Given the description of an element on the screen output the (x, y) to click on. 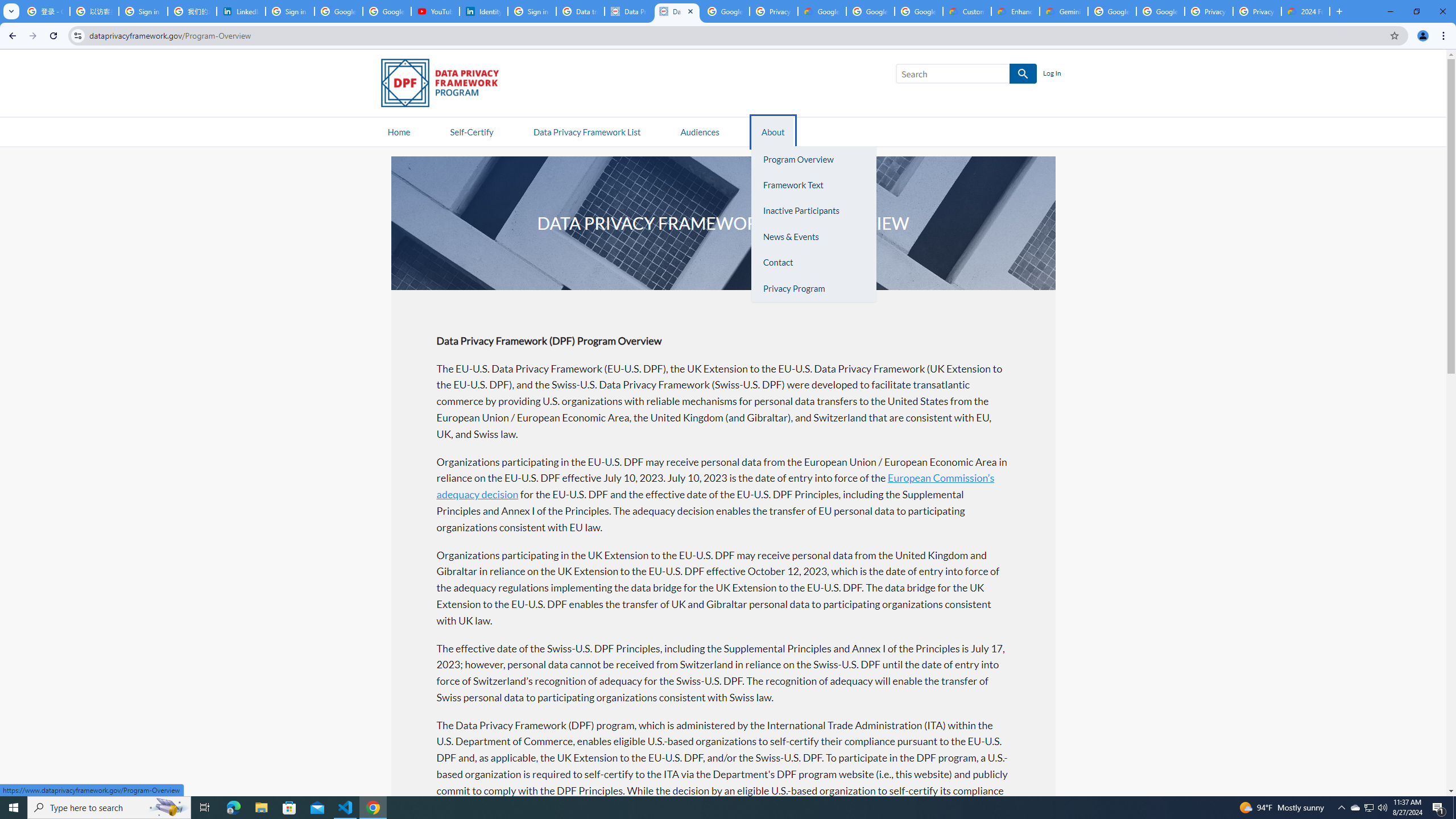
Sign in - Google Accounts (532, 11)
Audiences (699, 131)
News & Events (813, 236)
Data Privacy Framework (628, 11)
Search SEARCH (965, 75)
Customer Care | Google Cloud (966, 11)
Data Privacy Framework Logo - Link to Homepage (445, 85)
Program Overview (813, 158)
